Given the description of an element on the screen output the (x, y) to click on. 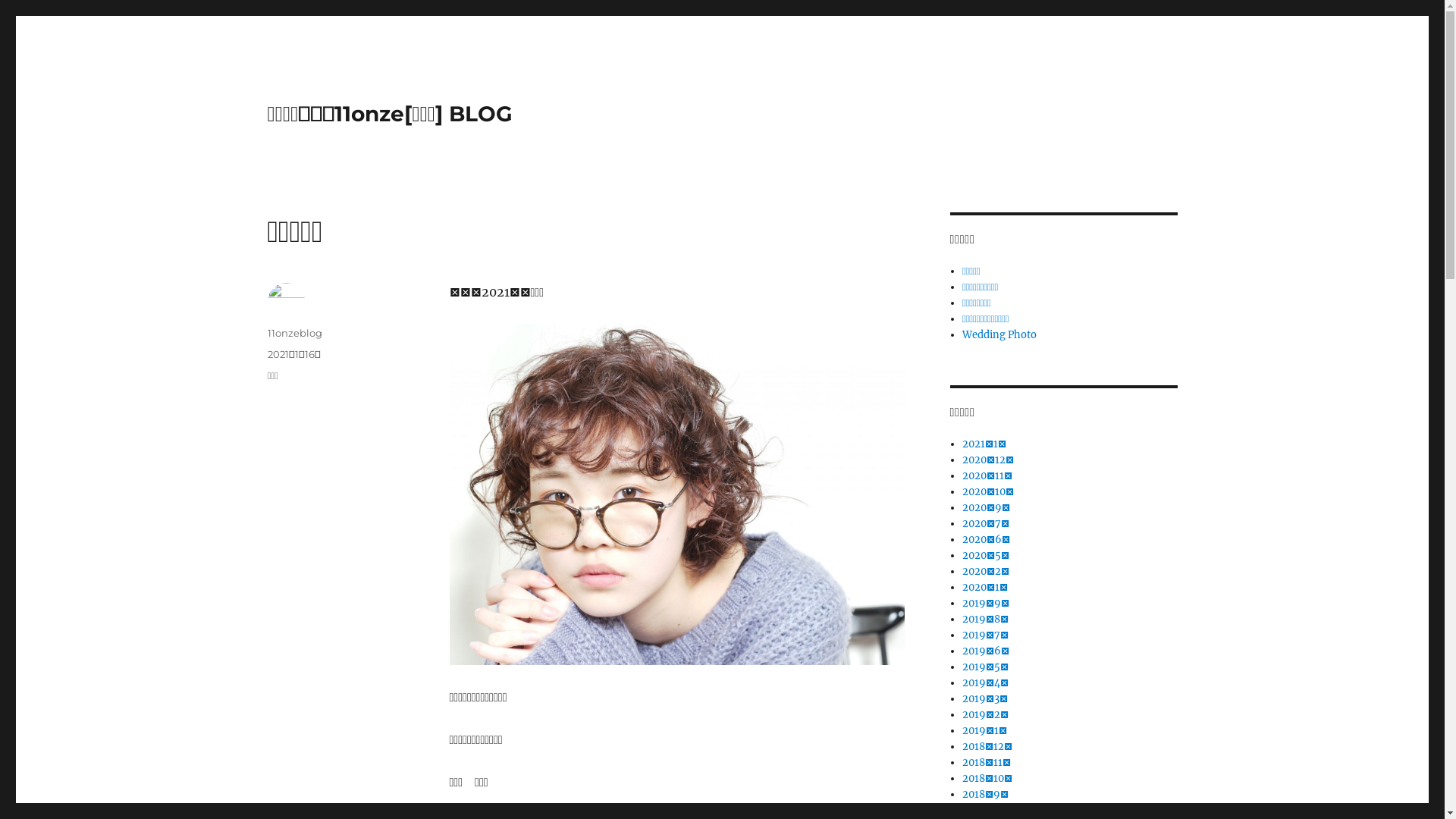
11onzeblog Element type: text (293, 332)
Wedding Photo Element type: text (999, 334)
